Given the description of an element on the screen output the (x, y) to click on. 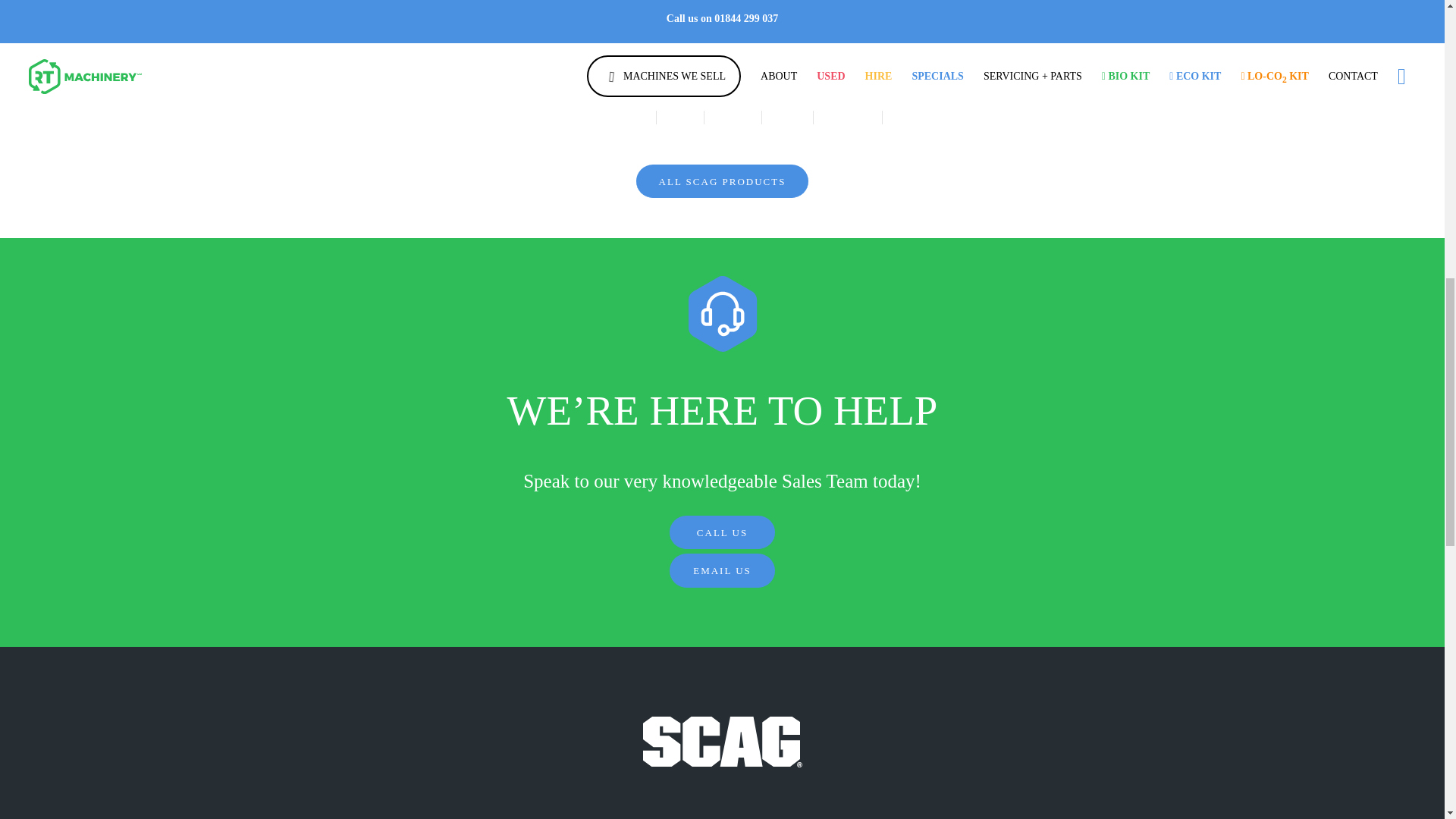
reception (722, 314)
scag-white (721, 741)
